Given the description of an element on the screen output the (x, y) to click on. 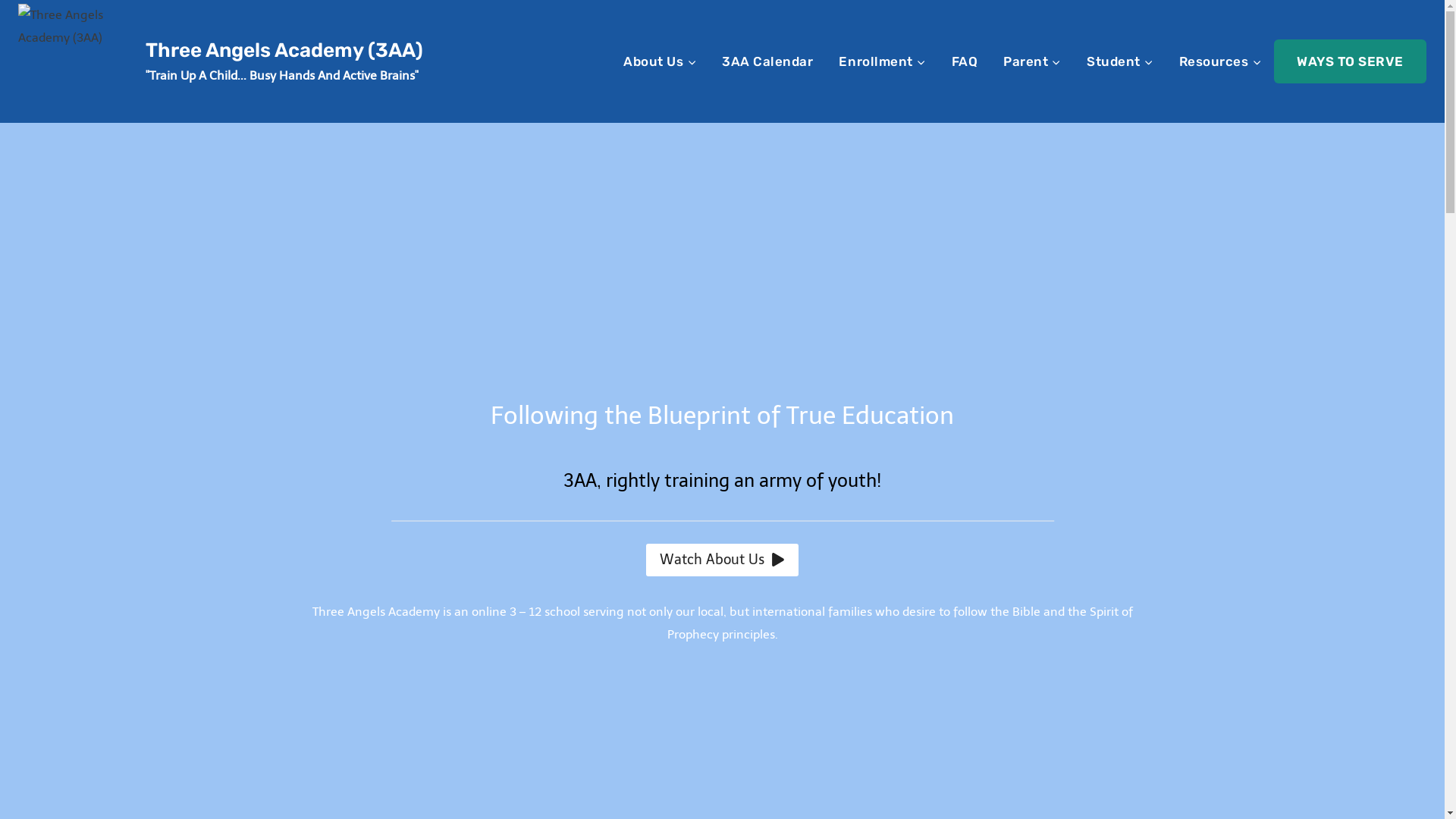
Parent Element type: text (1031, 60)
Enrollment Element type: text (881, 60)
WAYS TO SERVE Element type: text (1350, 60)
Resources Element type: text (1220, 60)
3AA Calendar Element type: text (767, 60)
FAQ Element type: text (964, 60)
About Us Element type: text (659, 60)
Watch About Us Element type: text (722, 559)
Student Element type: text (1119, 60)
